Given the description of an element on the screen output the (x, y) to click on. 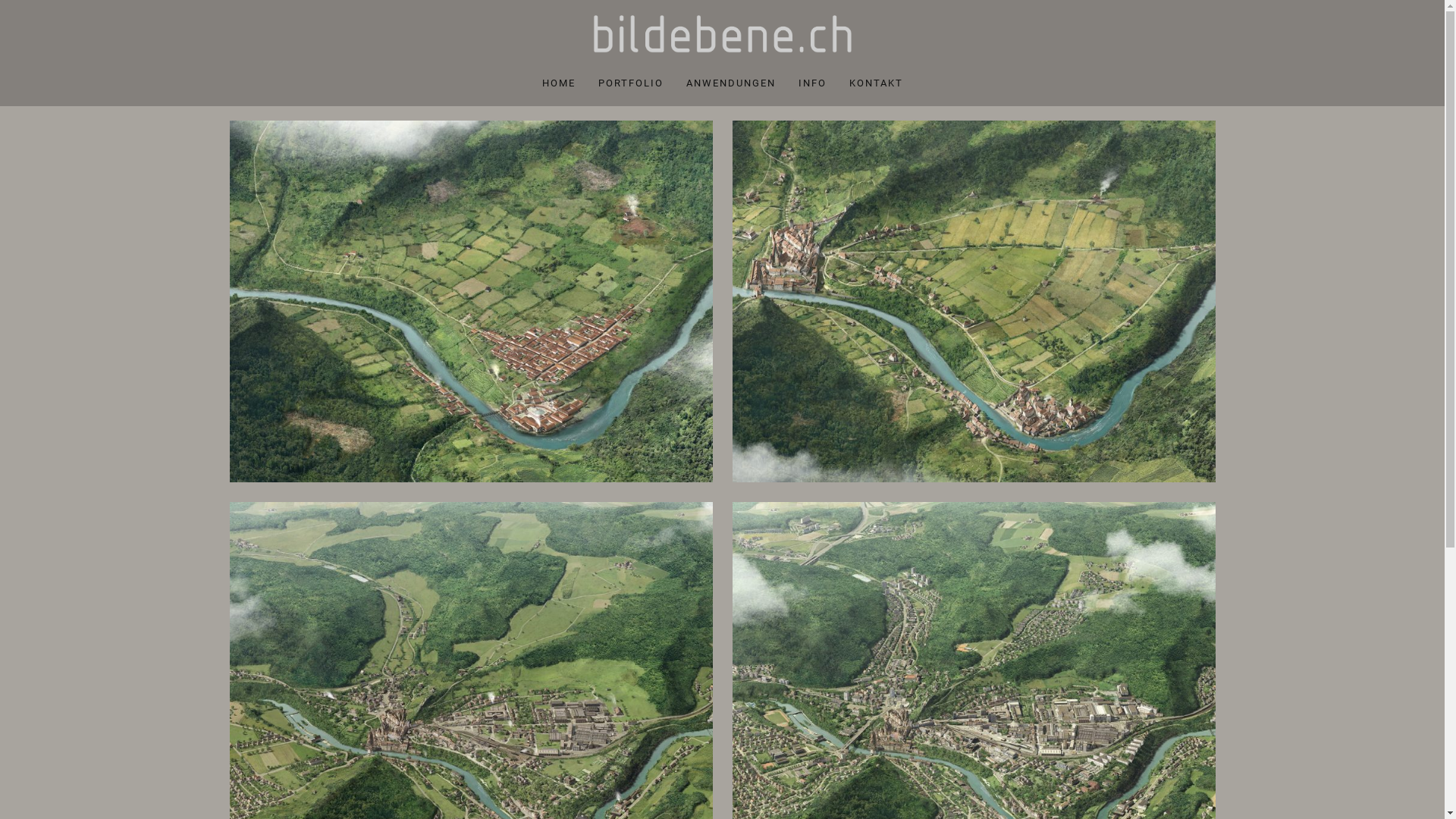
ANWENDUNGEN Element type: text (730, 83)
PORTFOLIO Element type: text (630, 83)
Rekonstruktion Baden um 200 Element type: hover (470, 301)
HOME Element type: text (558, 83)
INFO Element type: text (812, 83)
KONTAKT Element type: text (875, 83)
Rekonstruktion Baden um 1600 Element type: hover (973, 301)
